Given the description of an element on the screen output the (x, y) to click on. 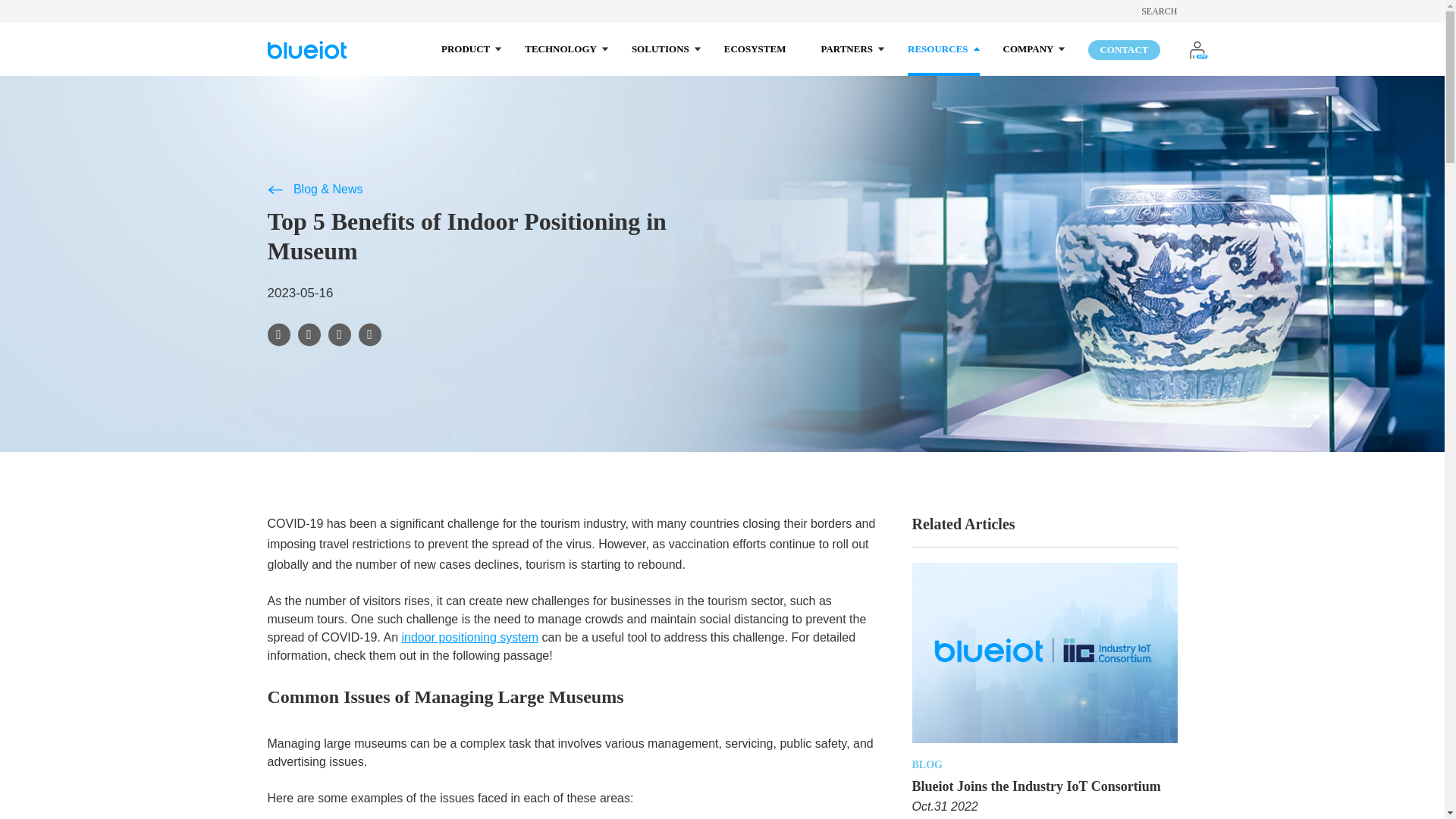
ECOSYSTEM (754, 49)
SOLUTIONS (659, 49)
